Given the description of an element on the screen output the (x, y) to click on. 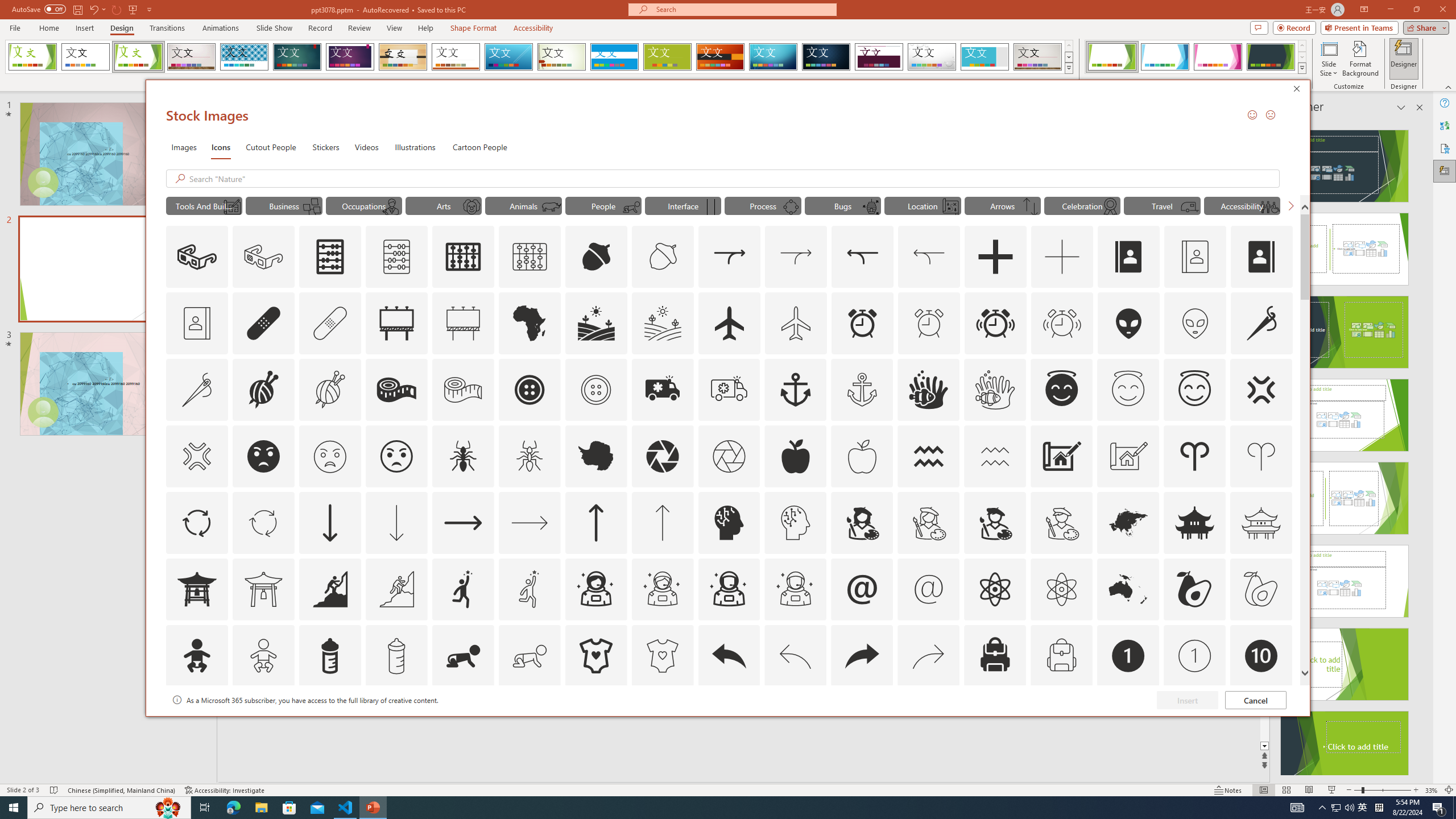
Themes (1068, 67)
AutomationID: Icons_Badge6_M (861, 721)
Videos (366, 146)
Search "Nature" (731, 178)
Facet Variant 3 (1217, 56)
Retrospect (455, 56)
AutomationID: Icons_AsianTemple1_M (263, 588)
AutomationID: Icons_Badge2_M (329, 721)
AutomationID: Icons_AlarmRinging_M (1062, 323)
Organic (403, 56)
AutomationID: Icons_Architecture (1061, 455)
